Given the description of an element on the screen output the (x, y) to click on. 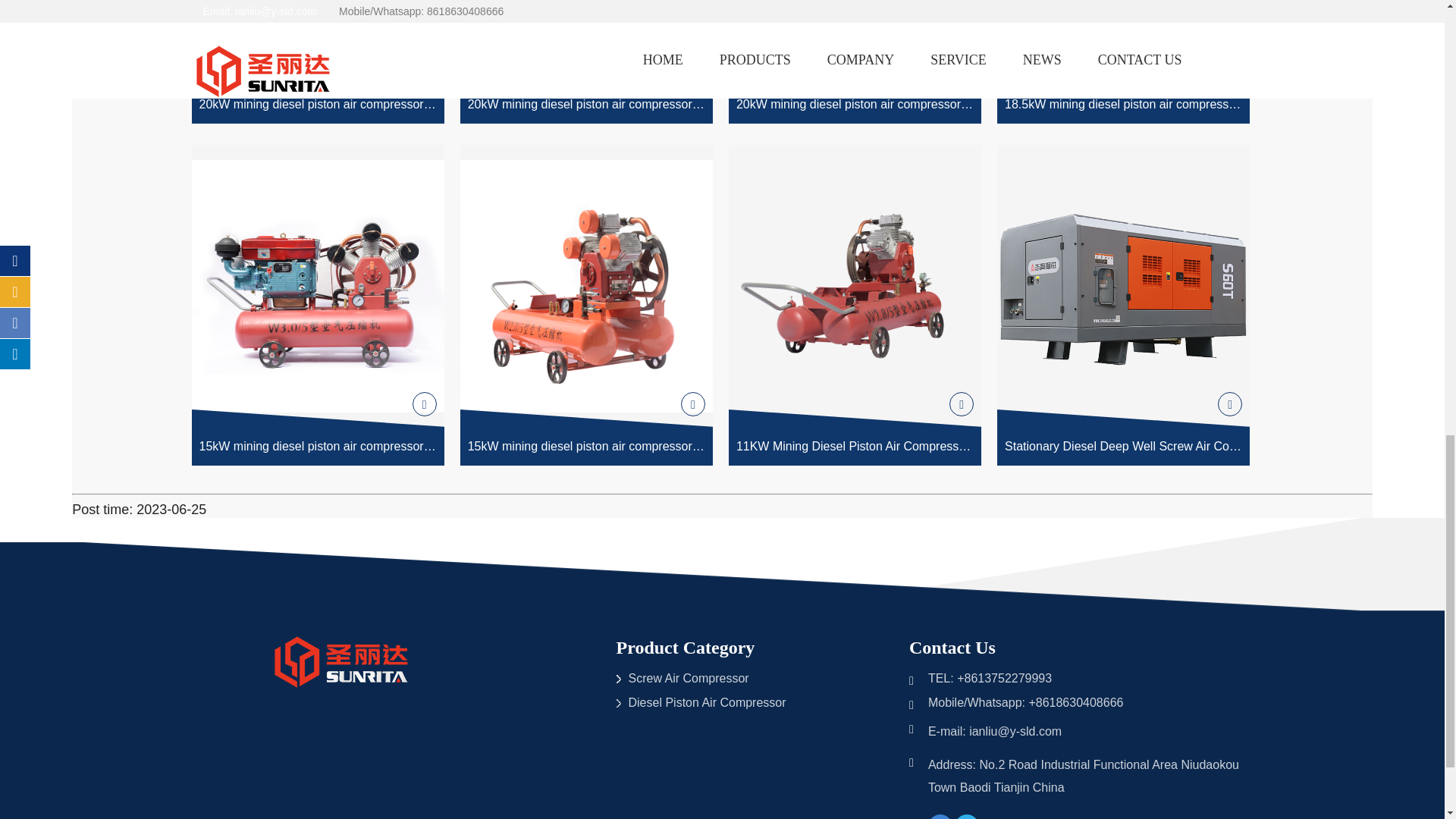
20kW mining diesel piston air compressor W3.2-7 (586, 61)
20kW mining diesel piston air compressor 2V4.0-5 (855, 61)
logo (342, 664)
20kW mining diesel piston air compressor SF4.0-5 (317, 61)
